Given the description of an element on the screen output the (x, y) to click on. 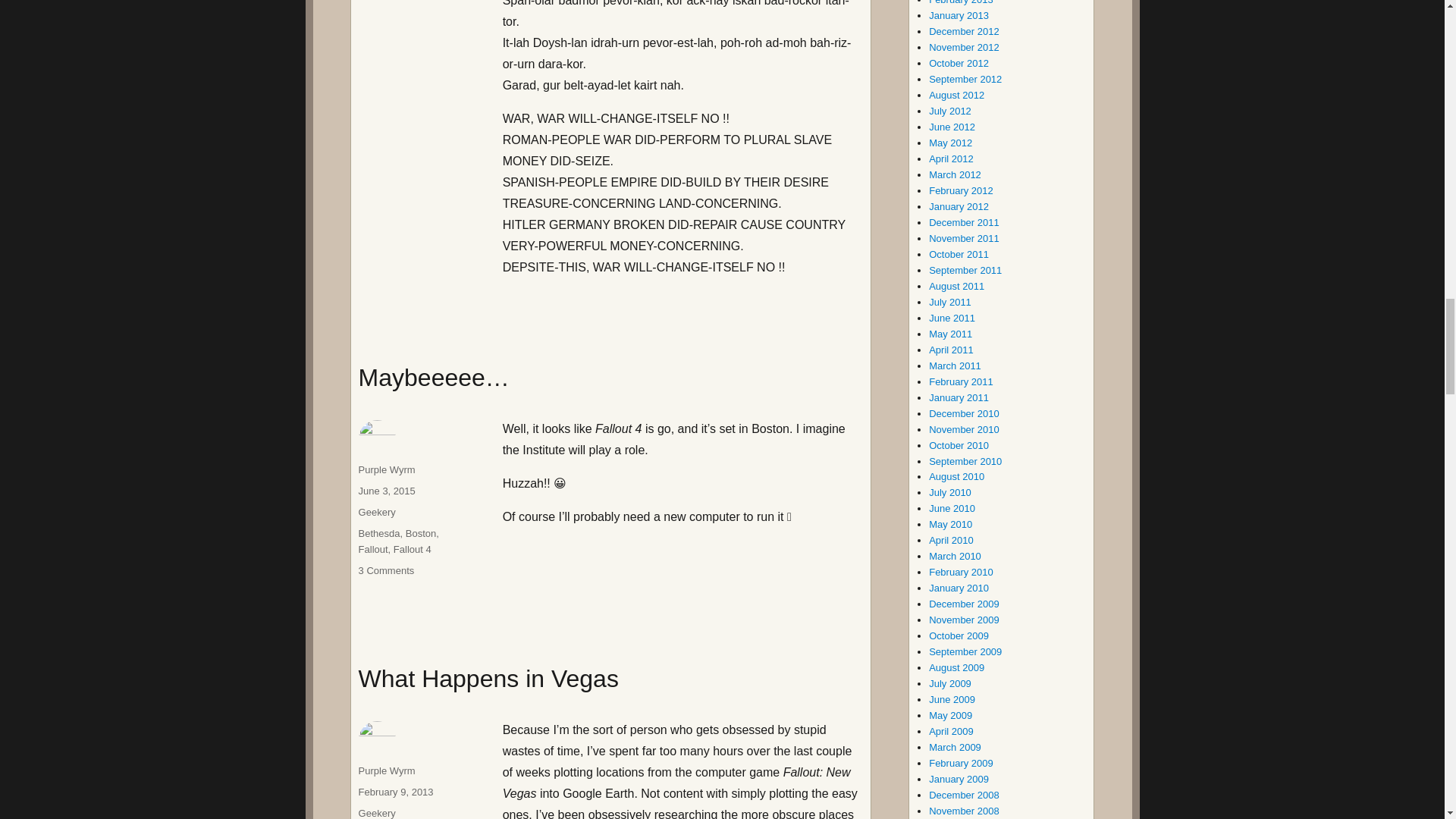
Fallout (373, 549)
Geekery (377, 511)
Purple Wyrm (386, 469)
June 3, 2015 (386, 490)
Boston (420, 532)
Bethesda (379, 532)
Fallout 4 (411, 549)
